Given the description of an element on the screen output the (x, y) to click on. 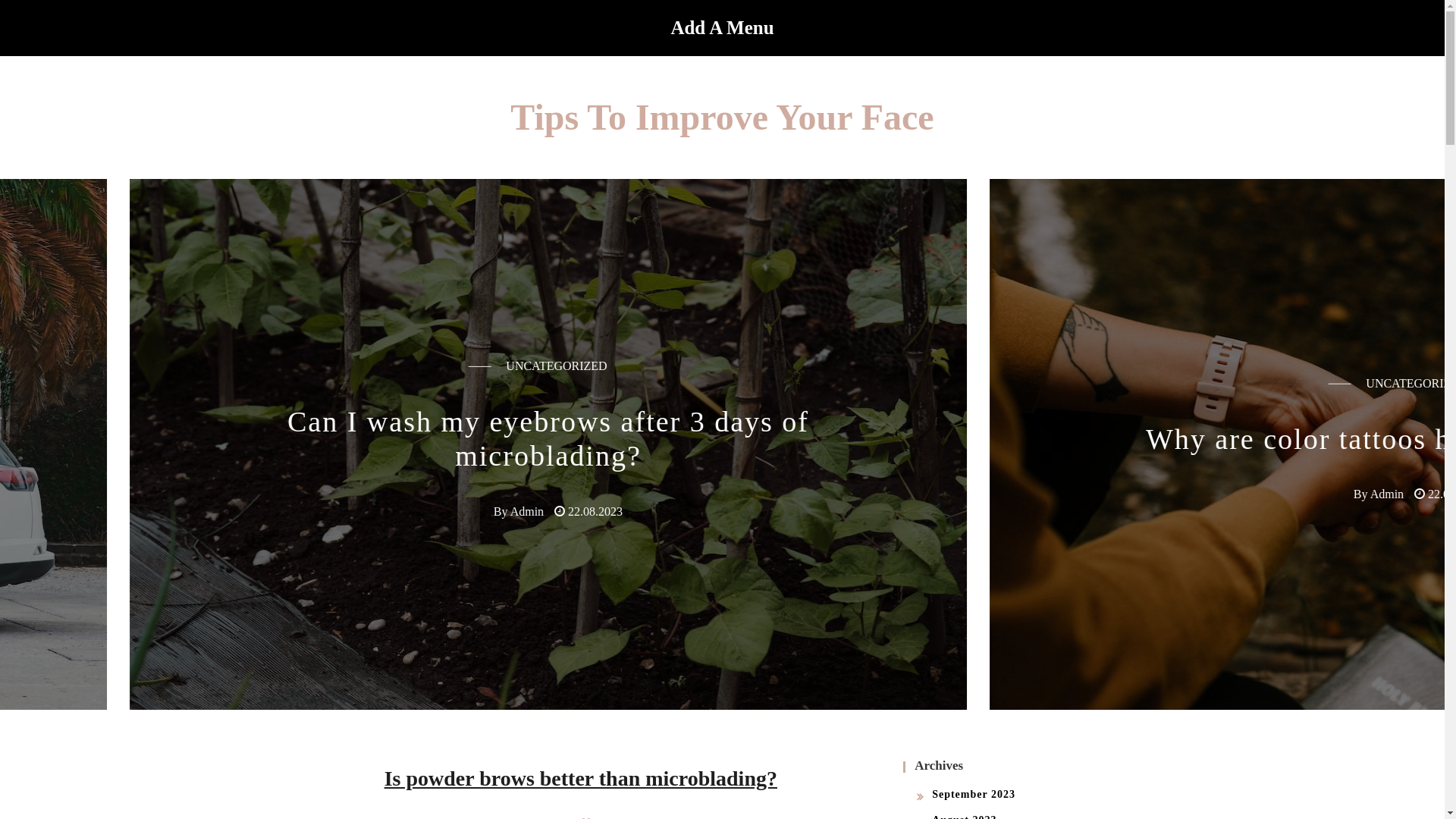
Tips To Improve Your Face Element type: text (721, 117)
September 2023 Element type: text (973, 794)
Can I wash my eyebrows after 3 days of microblading? Element type: text (722, 438)
22.08.2023 Element type: text (769, 511)
Admin Element type: text (701, 511)
Add A Menu Element type: text (722, 27)
Is powder brows better than microblading? Element type: text (580, 778)
